Given the description of an element on the screen output the (x, y) to click on. 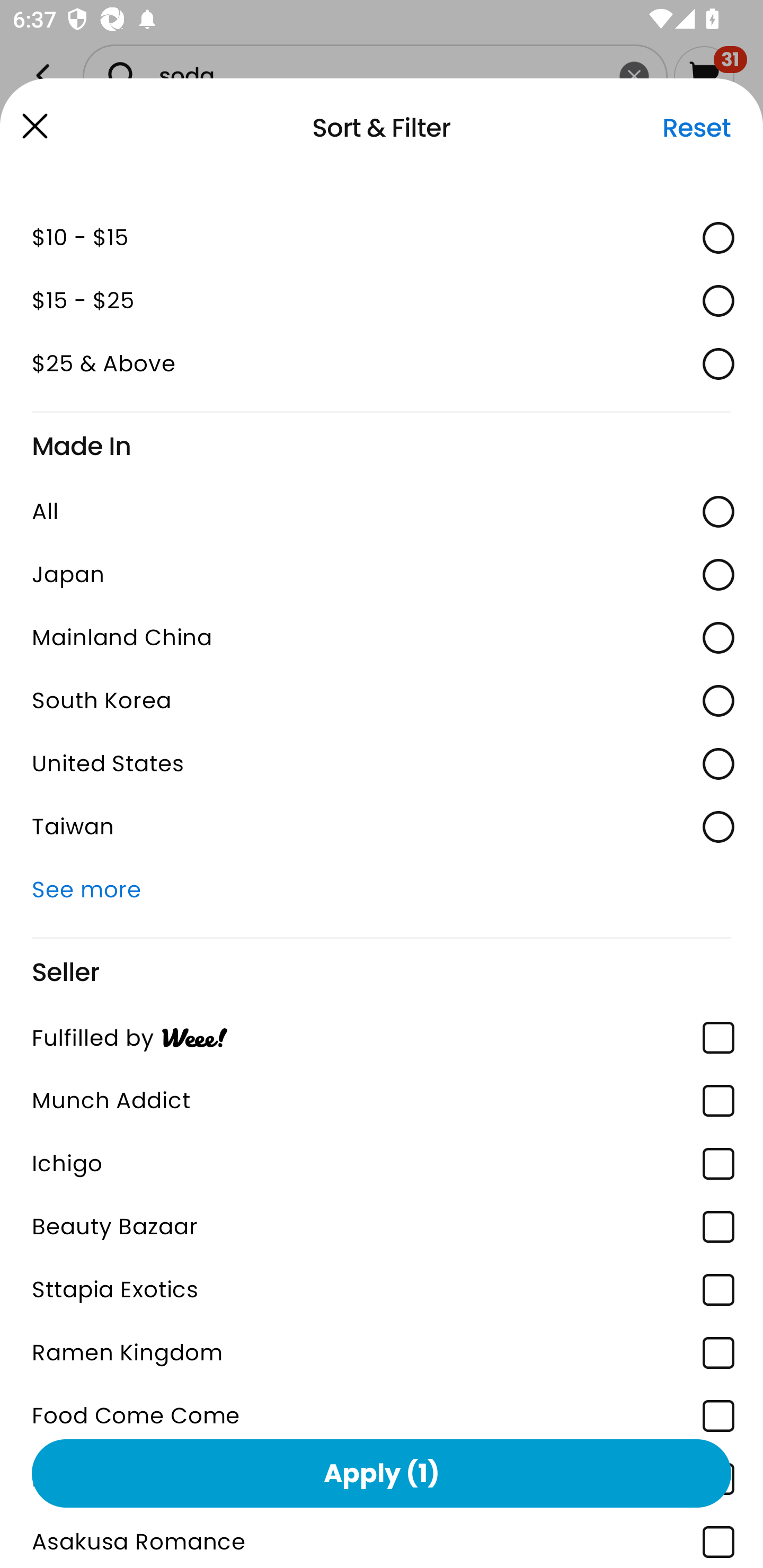
Reset (696, 127)
See more (381, 889)
Apply (1) (381, 1472)
